Given the description of an element on the screen output the (x, y) to click on. 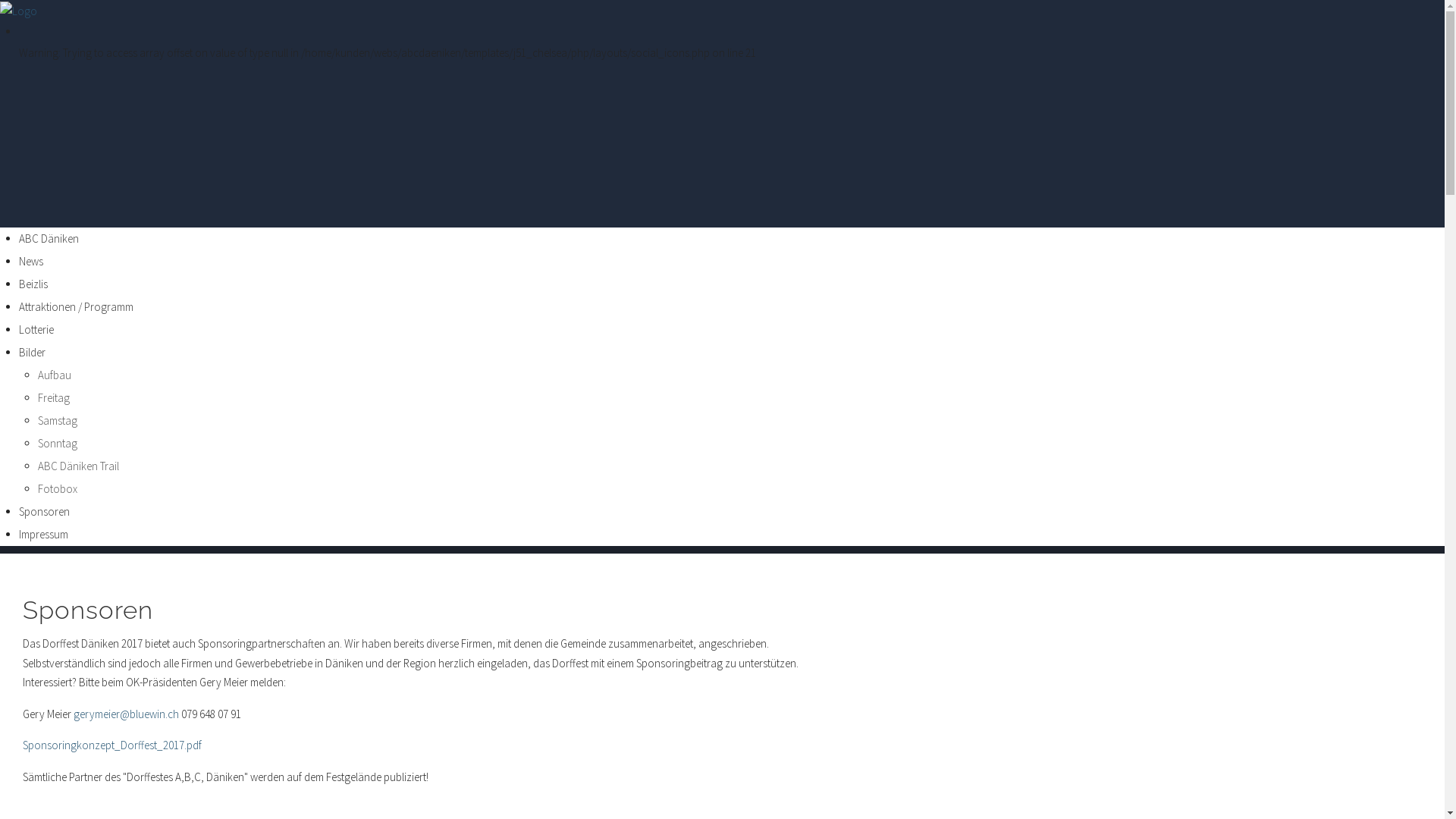
Sponsoren Element type: text (87, 609)
Sponsoringkonzept_Dorffest_2017.pdf Element type: text (111, 744)
Bilder Element type: text (31, 352)
Beizlis Element type: text (32, 283)
News Element type: text (30, 261)
Fotobox Element type: text (57, 488)
Samstag Element type: text (57, 420)
Attraktionen / Programm Element type: text (75, 306)
Aufbau Element type: text (54, 374)
gerymeier@bluewin.ch Element type: text (125, 713)
Sonntag Element type: text (57, 443)
Freitag Element type: text (53, 397)
Impressum Element type: text (43, 534)
Lotterie Element type: text (35, 329)
Sponsoren Element type: text (43, 511)
